Given the description of an element on the screen output the (x, y) to click on. 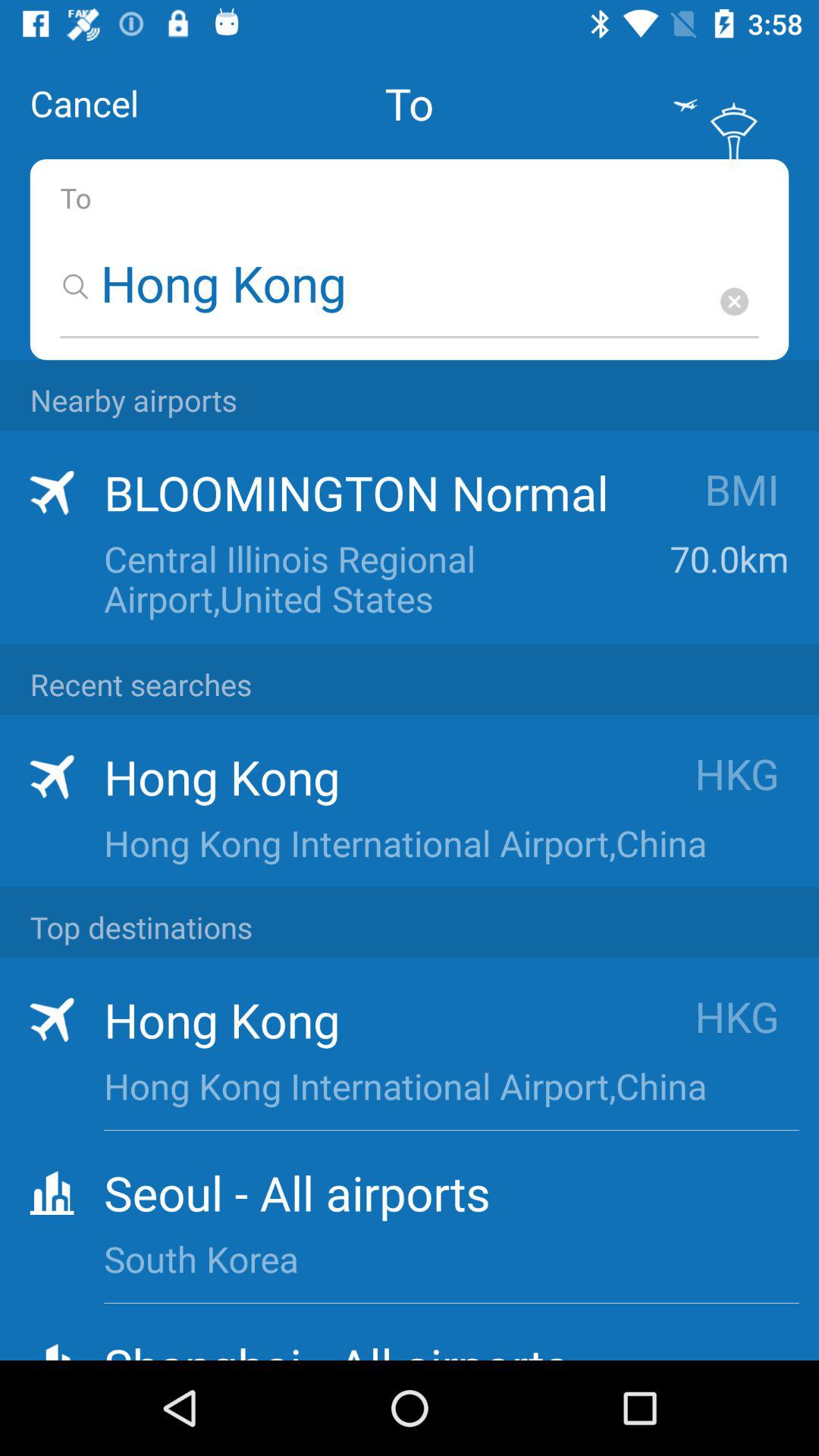
launch the cancel (84, 103)
